Given the description of an element on the screen output the (x, y) to click on. 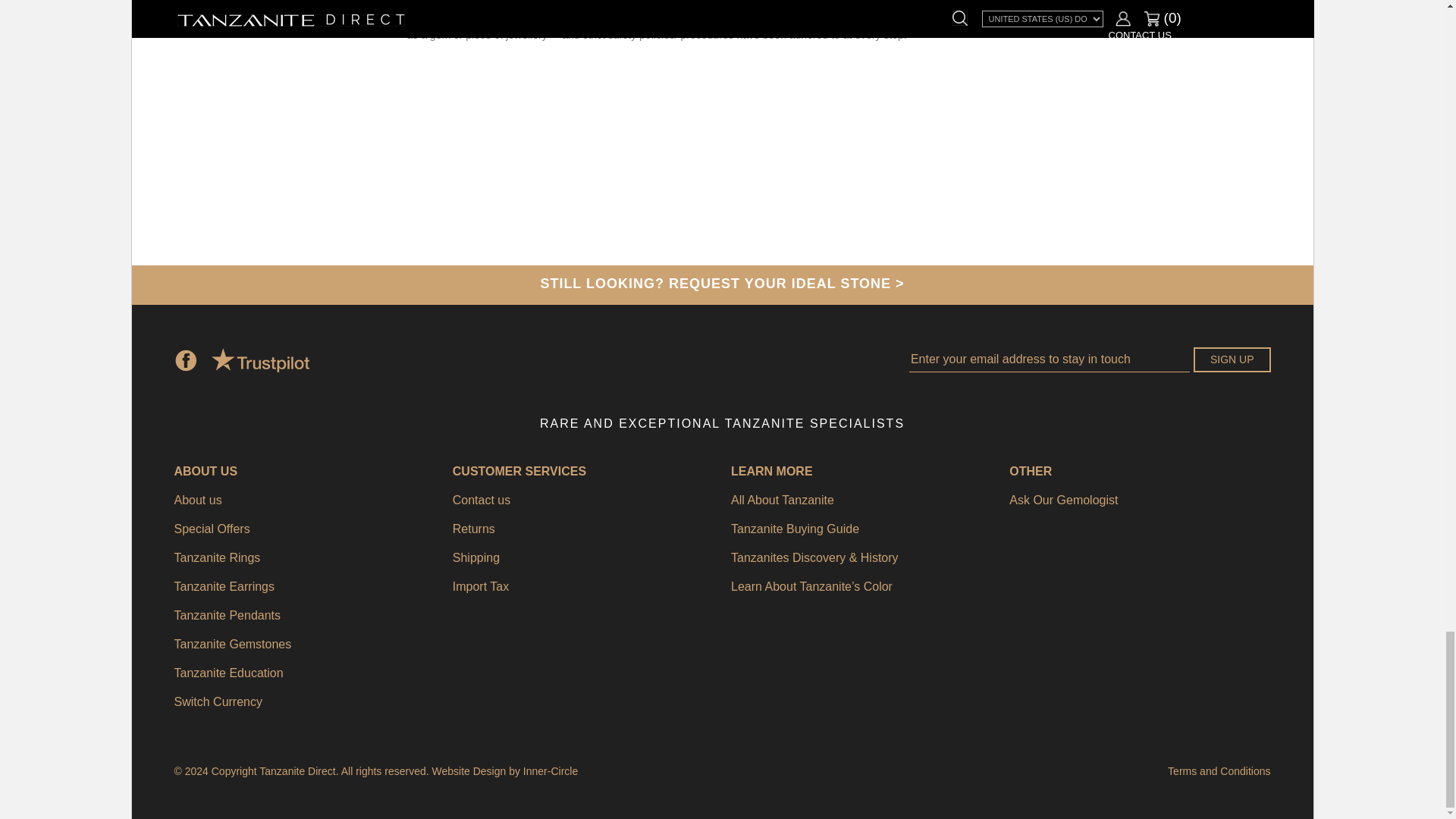
About us (304, 499)
SIGN UP (1232, 359)
Tanzanite Buying Guide (860, 529)
Ask Our Gemologist (1139, 499)
Contact us (582, 499)
Tanzanite Earrings (304, 586)
Tanzanite Education (304, 673)
Tanzanite Pendants (304, 615)
Tanzanite Rings (304, 558)
Enter your email address to stay in touch (1048, 359)
